Given the description of an element on the screen output the (x, y) to click on. 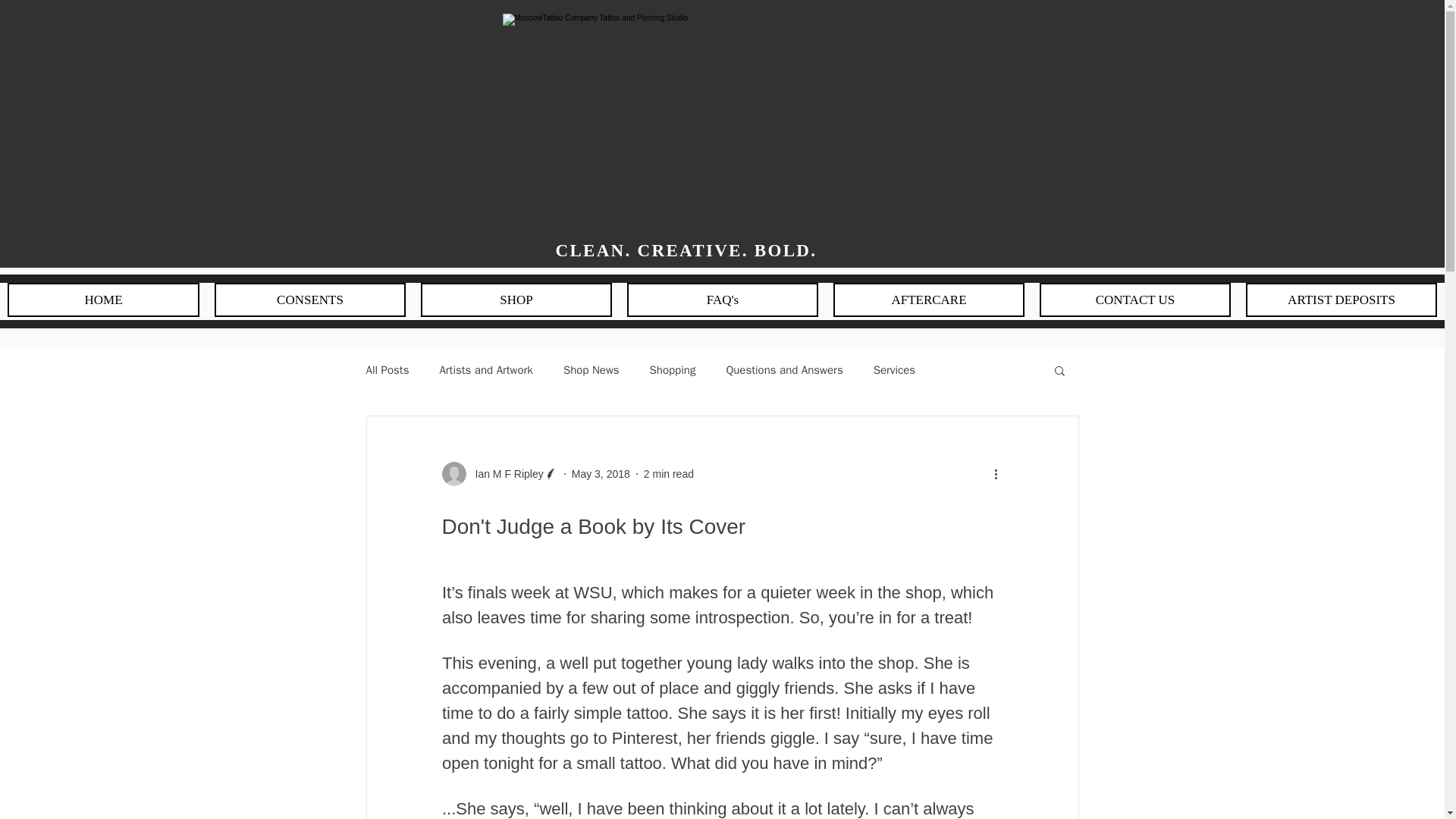
All Posts (387, 369)
Artists and Artwork (485, 369)
Ian M F Ripley (499, 473)
SHOP (515, 299)
CONSENTS (310, 299)
HOME (103, 299)
CLEAN. CREATIVE. BOLD.  (688, 250)
Brookie Sosa (85, 284)
Services (894, 369)
Ian M F Ripley (504, 473)
